Given the description of an element on the screen output the (x, y) to click on. 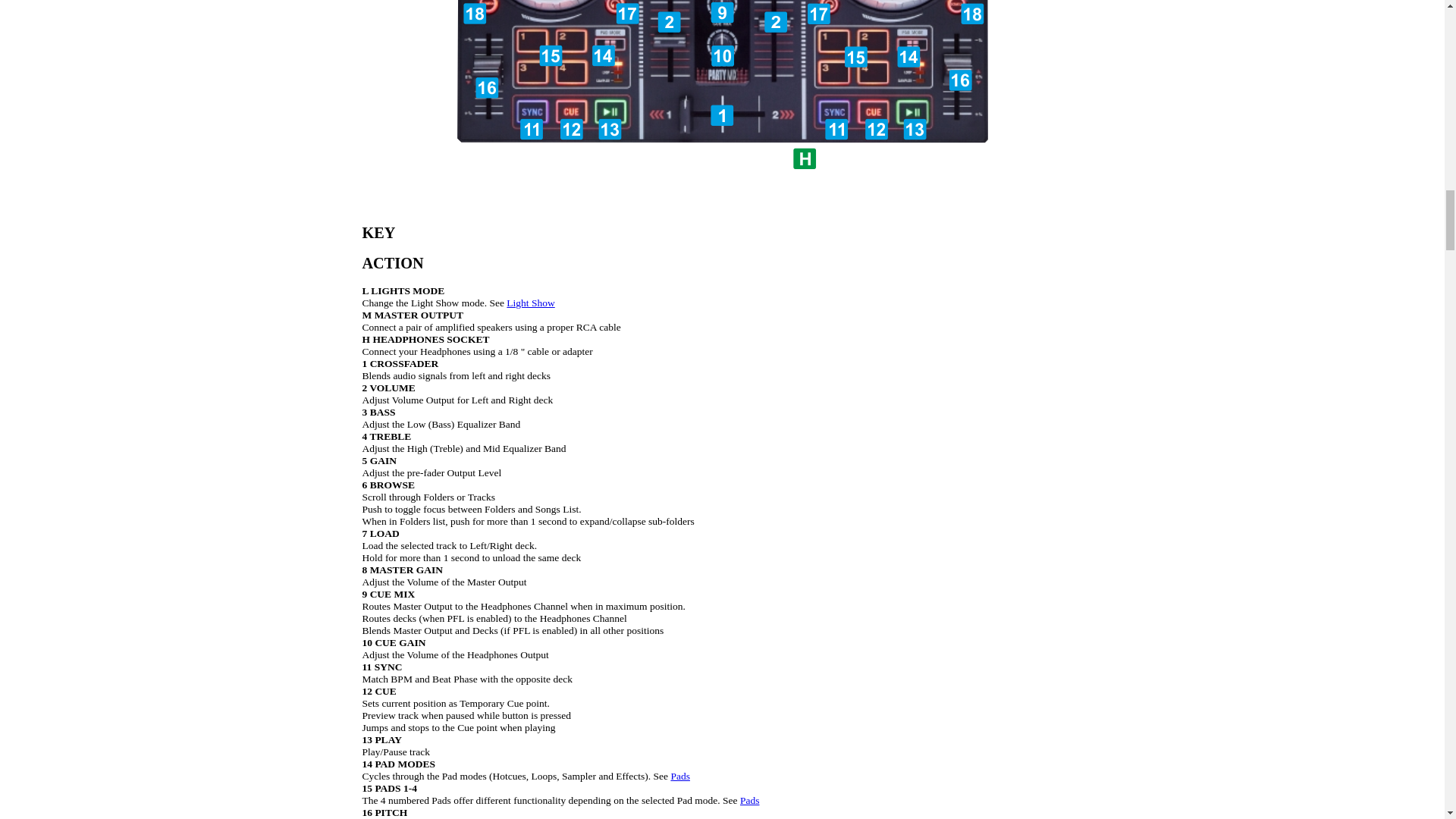
Light Show (530, 302)
Pads (679, 776)
Pads (749, 799)
